Given the description of an element on the screen output the (x, y) to click on. 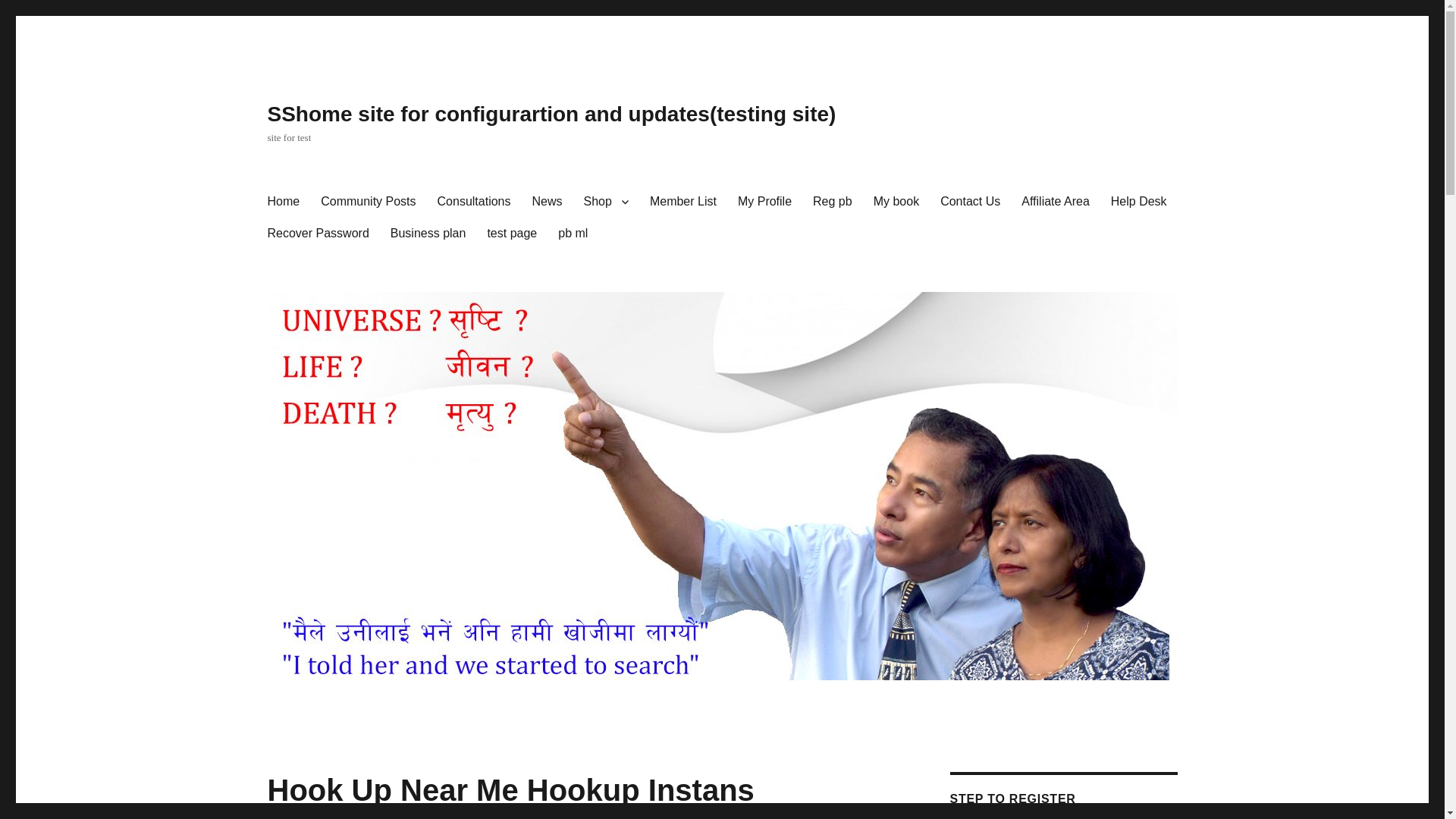
My Profile (764, 201)
Contact Us (970, 201)
My book (896, 201)
Help Desk (1138, 201)
Recover Password (317, 233)
pb ml (572, 233)
News (547, 201)
Reg pb (832, 201)
test page (511, 233)
Home (283, 201)
